Given the description of an element on the screen output the (x, y) to click on. 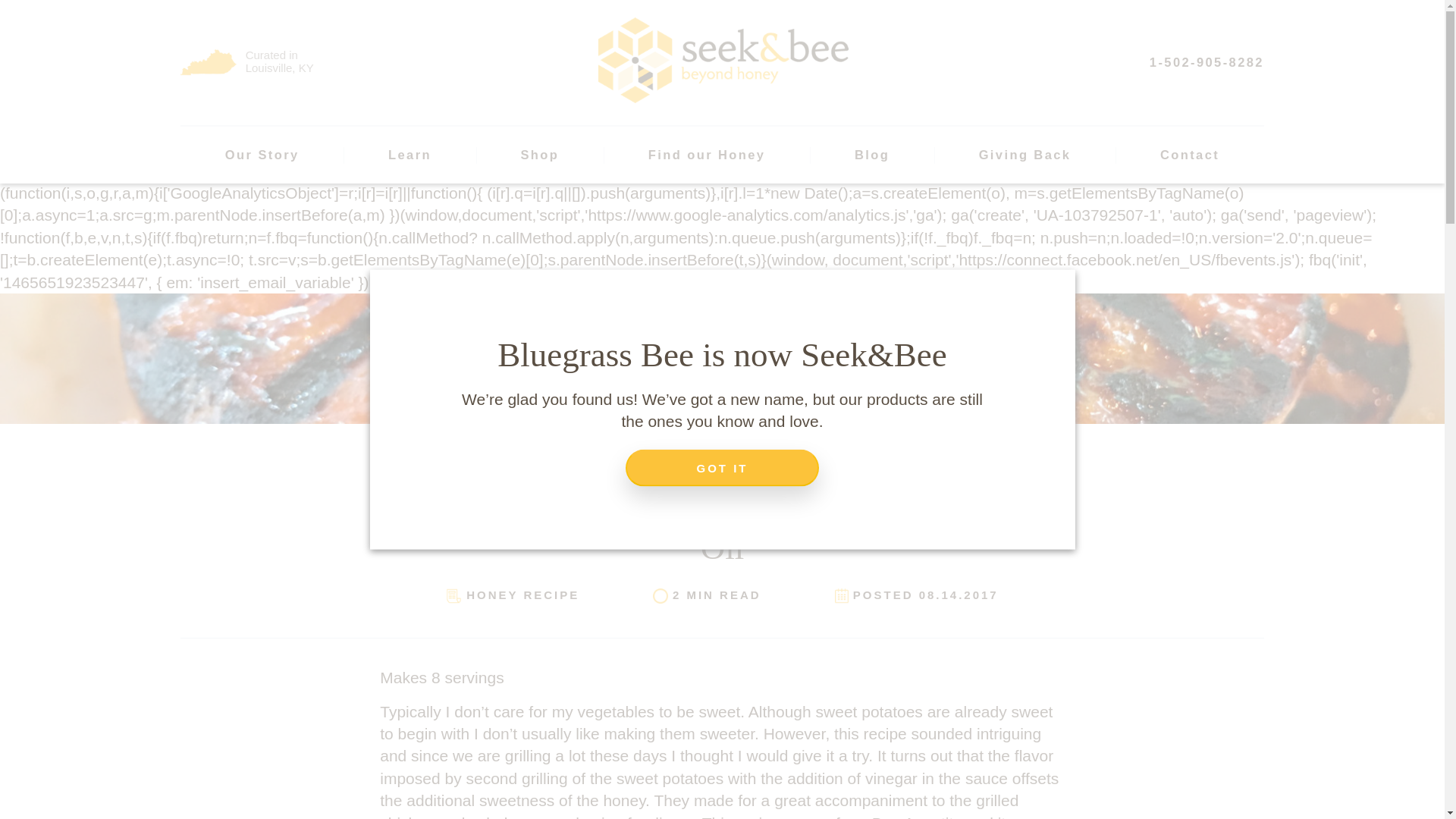
Our Story (261, 154)
Learn (409, 154)
Contact (1189, 154)
GOT IT (722, 467)
Shop (540, 154)
Find our Honey (706, 154)
Giving Back (1024, 154)
Blog (871, 154)
1-502-905-8282 (1206, 61)
